Given the description of an element on the screen output the (x, y) to click on. 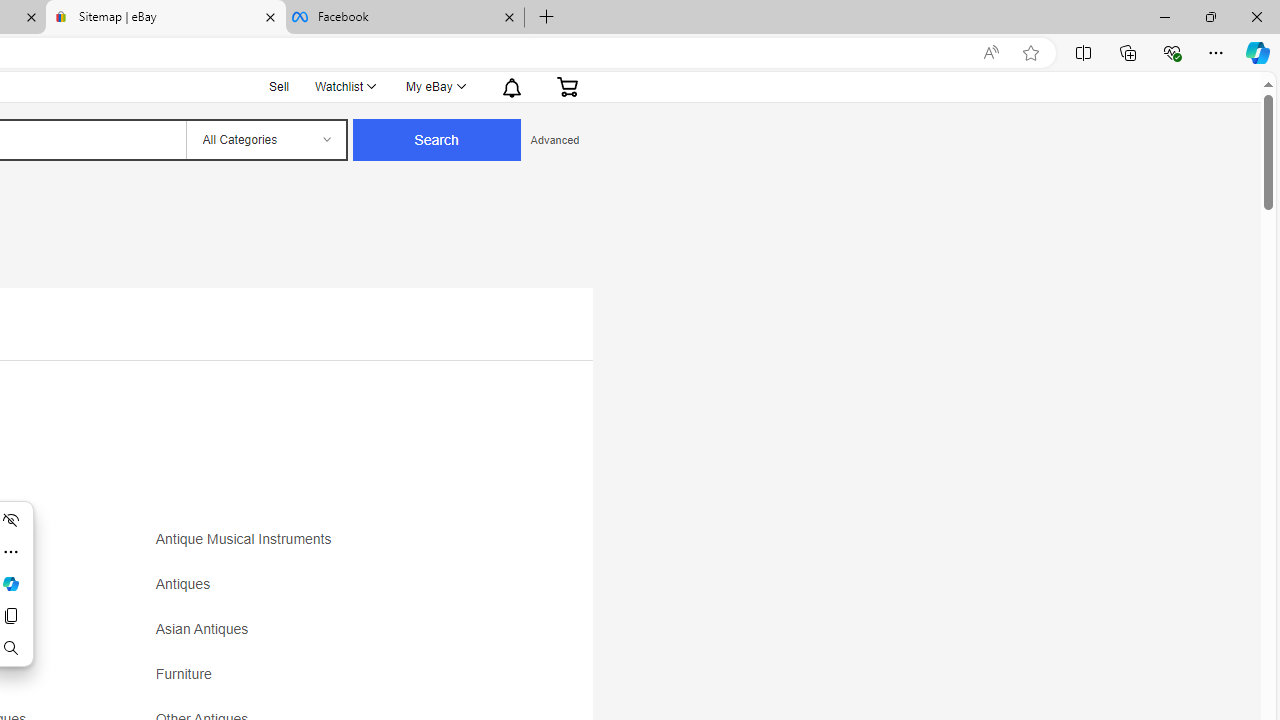
Watchlist (344, 86)
Notification (510, 86)
WatchlistExpand Watch List (344, 86)
Sell (279, 86)
Sell (279, 84)
Antique Musical Instruments (332, 546)
Asian Antiques (332, 636)
Antiques (332, 591)
